Given the description of an element on the screen output the (x, y) to click on. 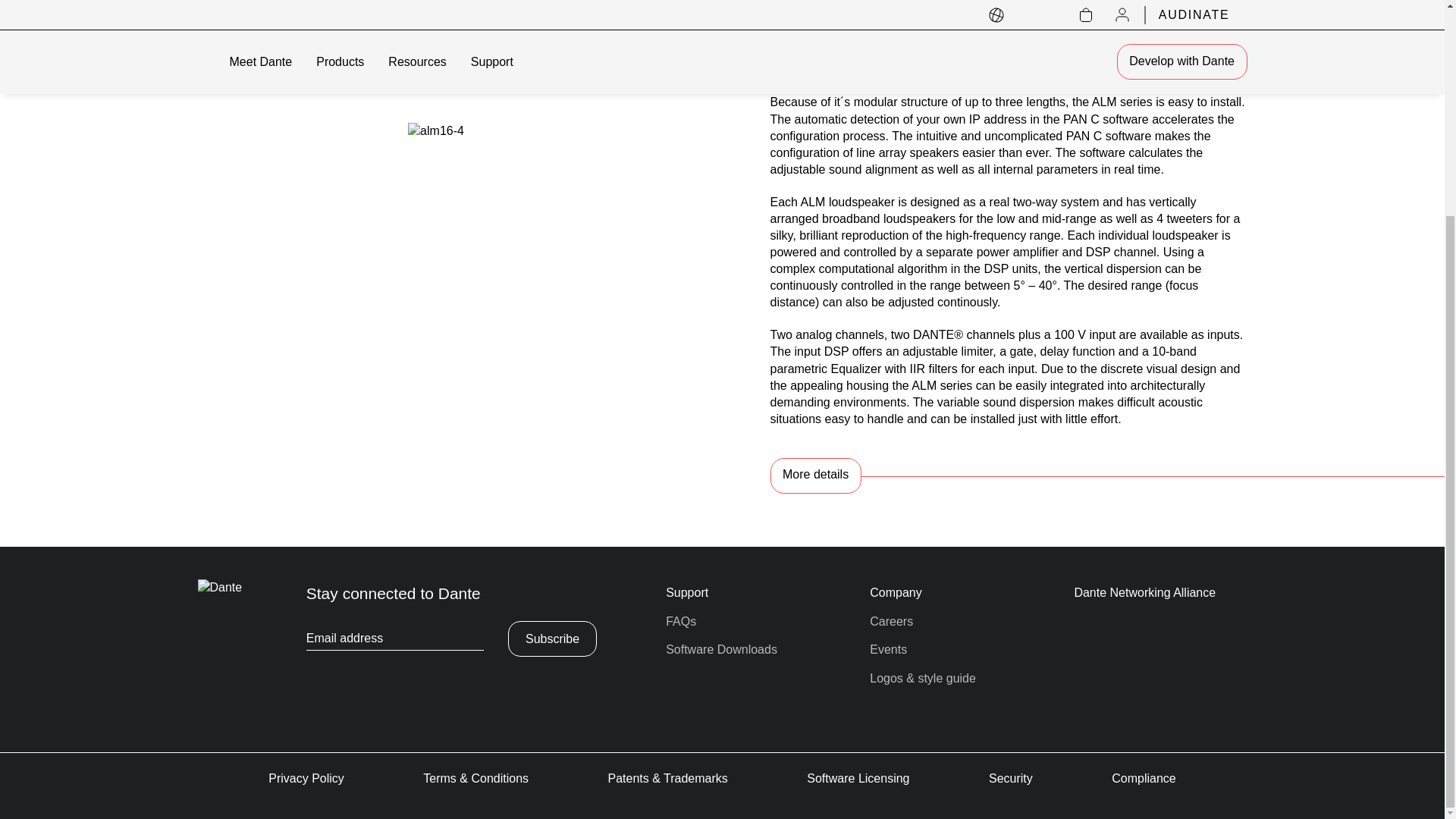
Subscribe (552, 638)
